Given the description of an element on the screen output the (x, y) to click on. 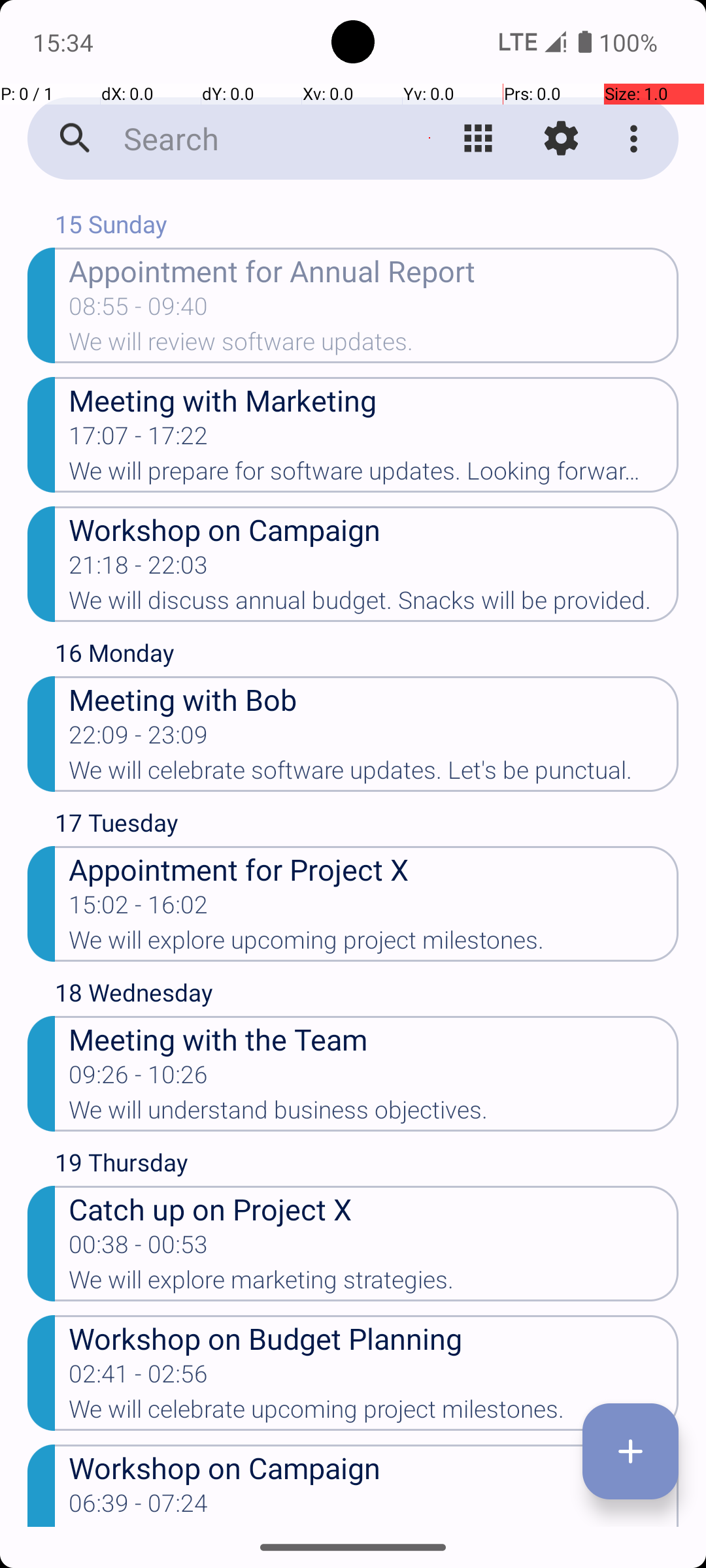
08:55 - 09:40 Element type: android.widget.TextView (137, 309)
We will review software updates. Element type: android.widget.TextView (373, 345)
17:07 - 17:22 Element type: android.widget.TextView (137, 439)
We will prepare for software updates. Looking forward to productive discussions. Element type: android.widget.TextView (373, 474)
21:18 - 22:03 Element type: android.widget.TextView (137, 568)
We will discuss annual budget. Snacks will be provided. Element type: android.widget.TextView (373, 603)
22:09 - 23:09 Element type: android.widget.TextView (137, 738)
We will celebrate software updates. Let's be punctual. Element type: android.widget.TextView (373, 773)
15:02 - 16:02 Element type: android.widget.TextView (137, 908)
We will explore upcoming project milestones. Element type: android.widget.TextView (373, 943)
09:26 - 10:26 Element type: android.widget.TextView (137, 1078)
We will understand business objectives. Element type: android.widget.TextView (373, 1113)
00:38 - 00:53 Element type: android.widget.TextView (137, 1248)
We will explore marketing strategies. Element type: android.widget.TextView (373, 1283)
02:41 - 02:56 Element type: android.widget.TextView (137, 1377)
We will celebrate upcoming project milestones. Element type: android.widget.TextView (373, 1412)
06:39 - 07:24 Element type: android.widget.TextView (137, 1506)
We will discuss business objectives. Element type: android.widget.TextView (373, 1525)
